Given the description of an element on the screen output the (x, y) to click on. 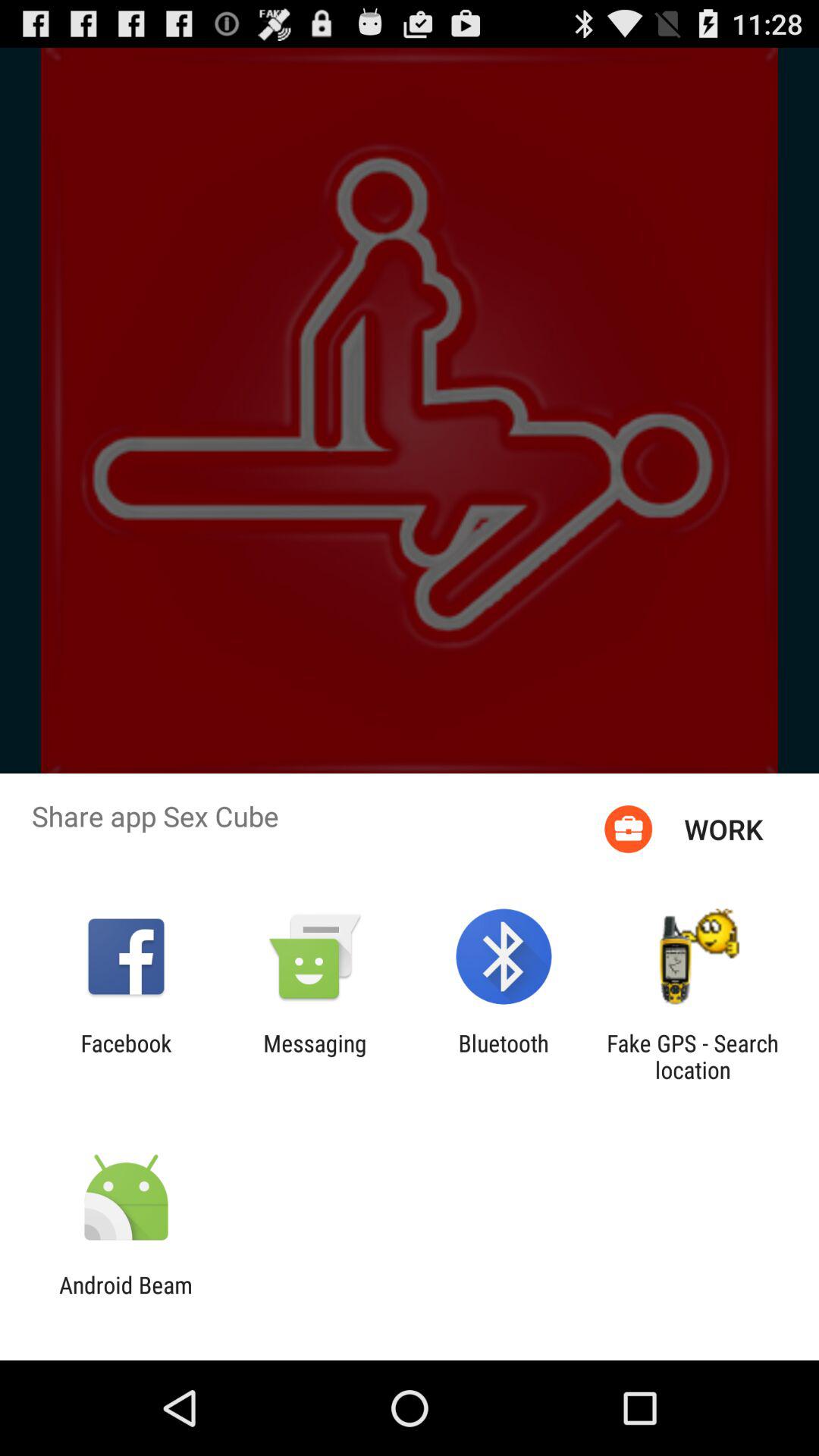
turn off the app to the right of messaging app (503, 1056)
